Given the description of an element on the screen output the (x, y) to click on. 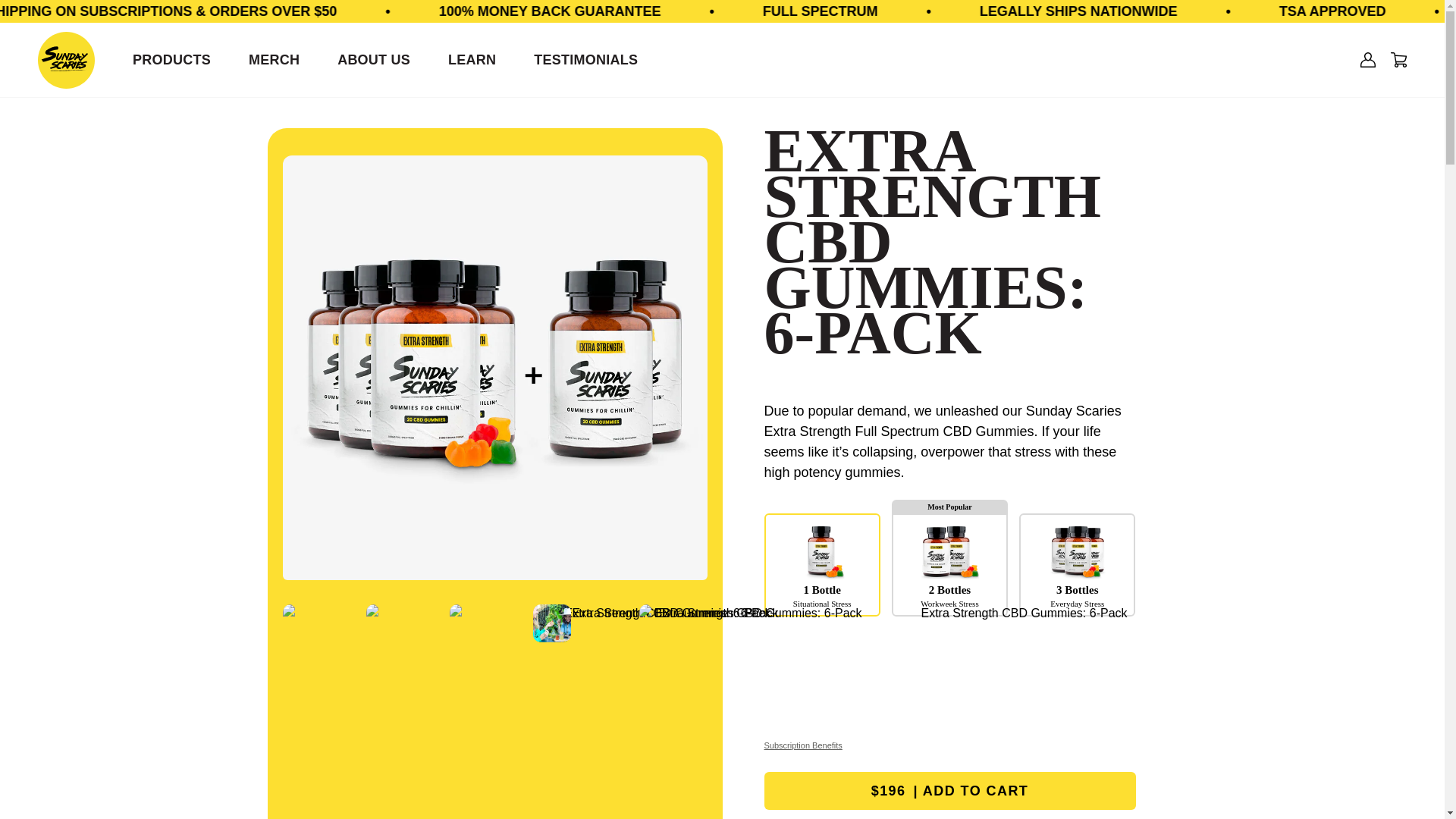
MERCH (274, 59)
LEARN (472, 59)
ABOUT US (373, 59)
PRODUCTS (171, 59)
